Given the description of an element on the screen output the (x, y) to click on. 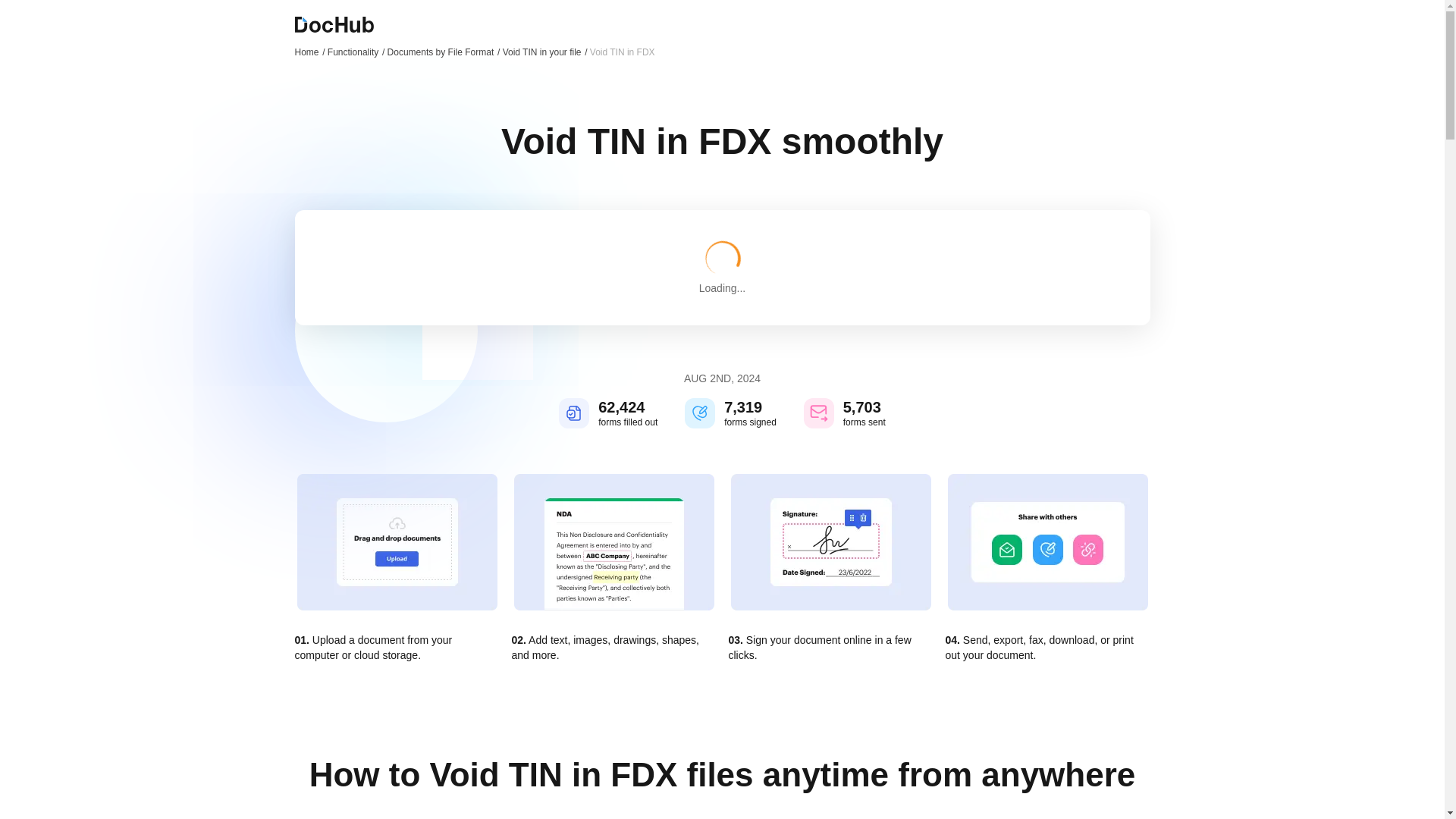
Home (309, 51)
Documents by File Format (443, 51)
Functionality (355, 51)
Void TIN in your file (545, 51)
